Given the description of an element on the screen output the (x, y) to click on. 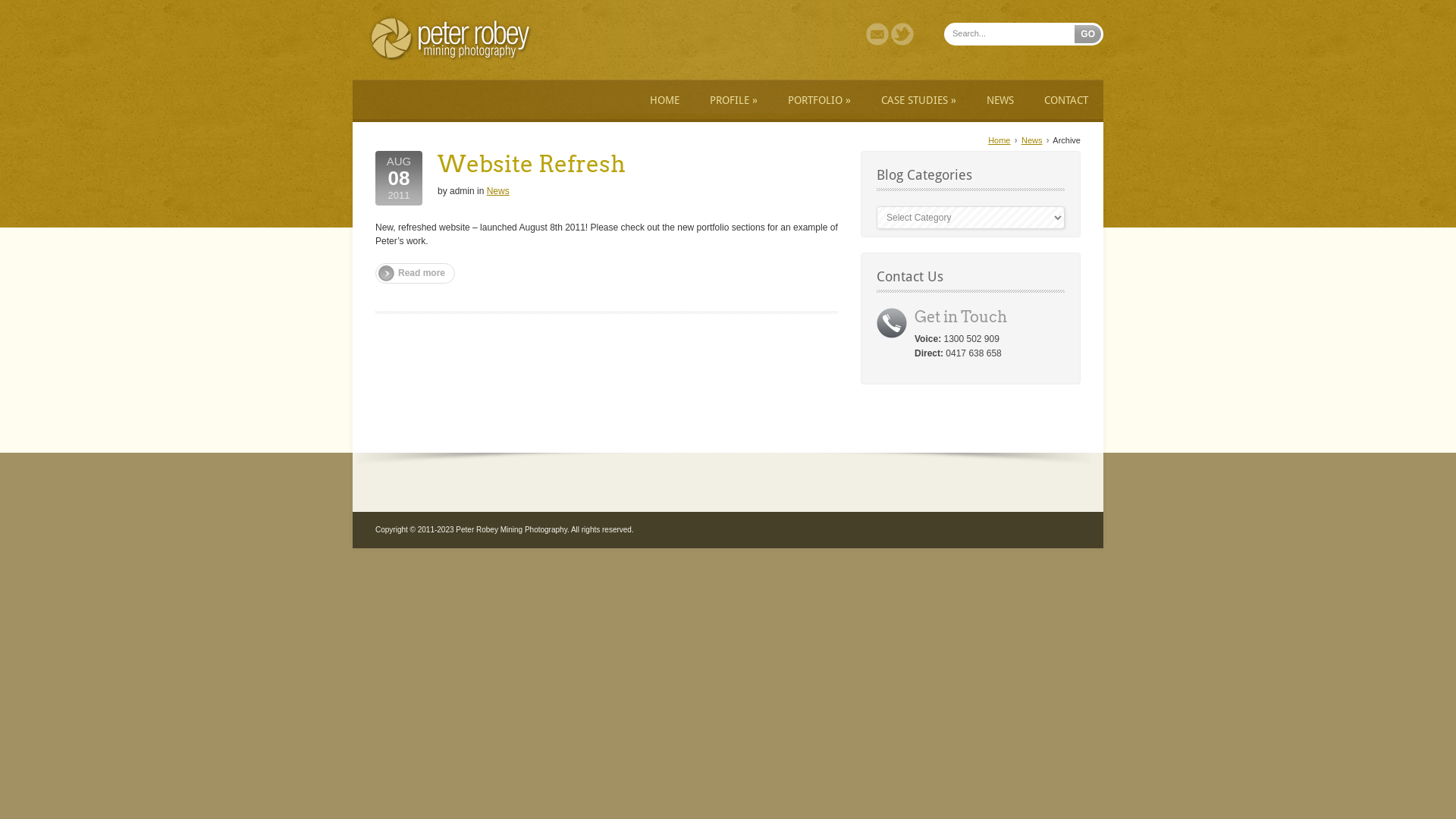
News Element type: text (1031, 139)
Go Element type: text (1087, 34)
NEWS Element type: text (1000, 101)
Twitter Element type: hover (902, 42)
CONTACT Element type: text (1066, 101)
Get in Touch Element type: text (960, 316)
Read more Element type: text (415, 273)
Home Element type: text (999, 139)
Contact Element type: hover (877, 42)
Website Refresh Element type: text (531, 163)
News Element type: text (497, 190)
HOME Element type: text (664, 101)
